Given the description of an element on the screen output the (x, y) to click on. 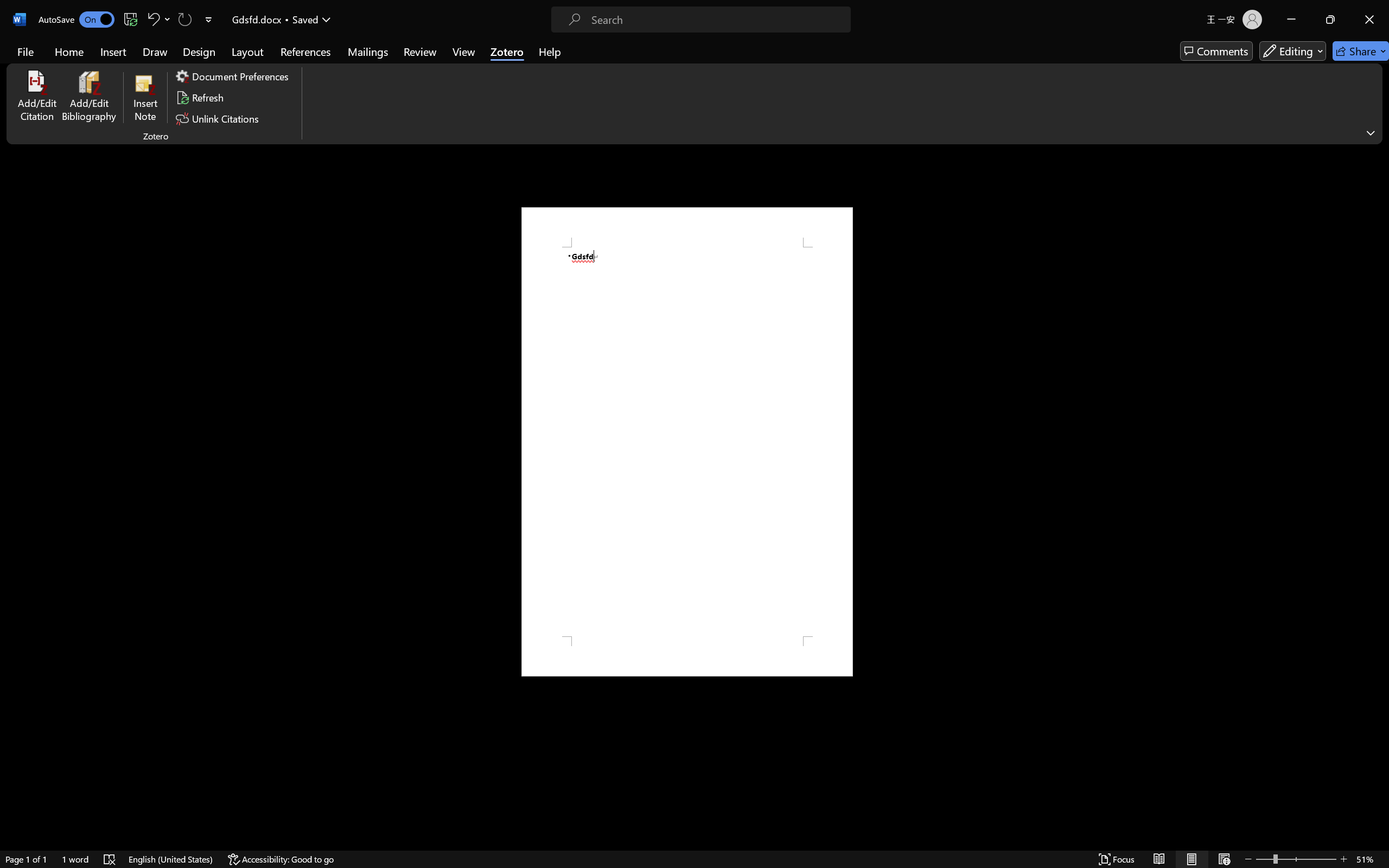
Page 1 content (686, 441)
